Given the description of an element on the screen output the (x, y) to click on. 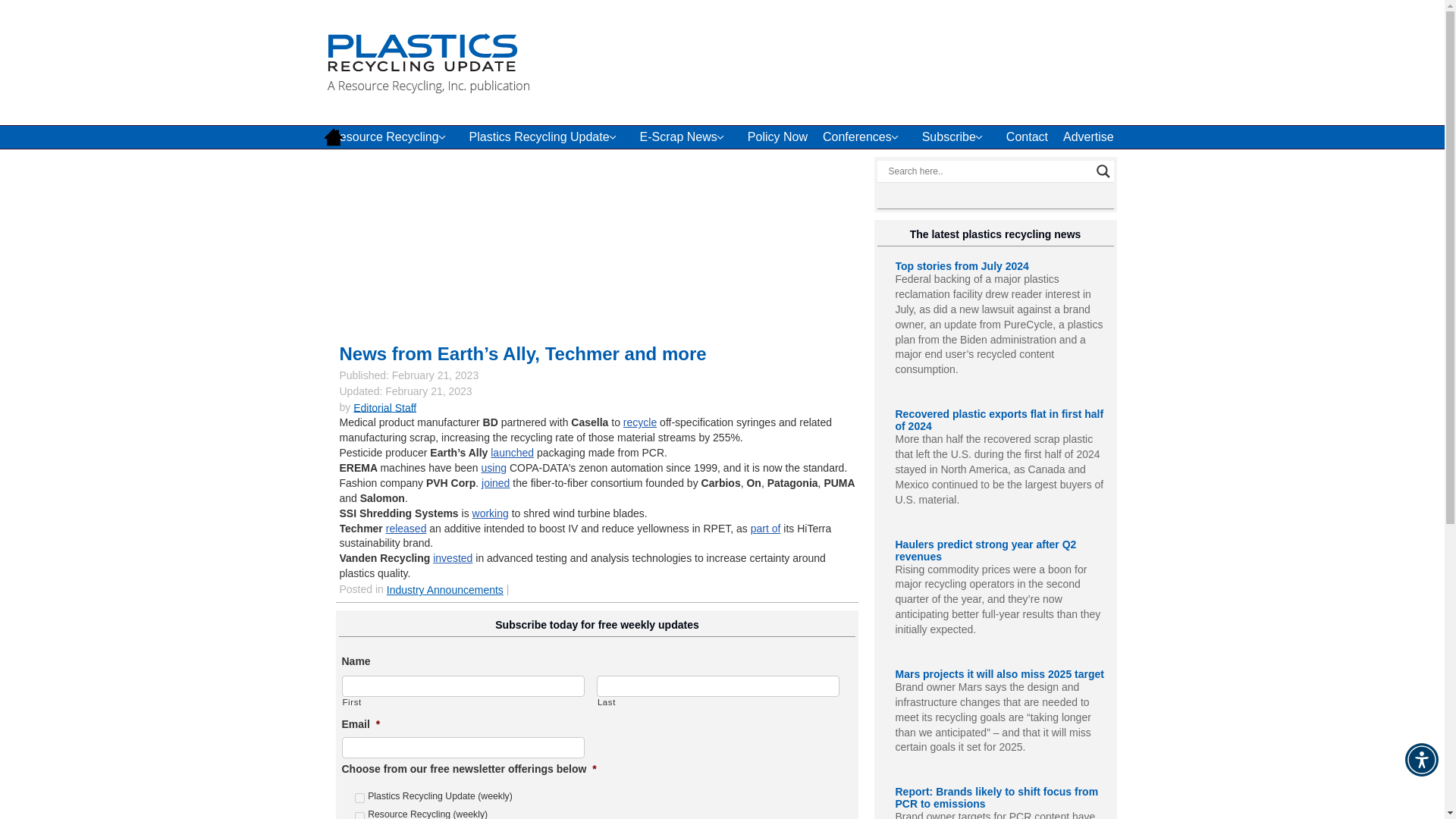
E-Scrap News (685, 137)
Contact (1026, 137)
Plastics Recycling Update (546, 137)
Subscribe (956, 137)
Accessibility Menu (1421, 759)
View all posts by Editorial Staff (384, 407)
Resource Recycling (392, 137)
Policy Now (777, 137)
Conferences (864, 137)
Advertise (1088, 137)
